Given the description of an element on the screen output the (x, y) to click on. 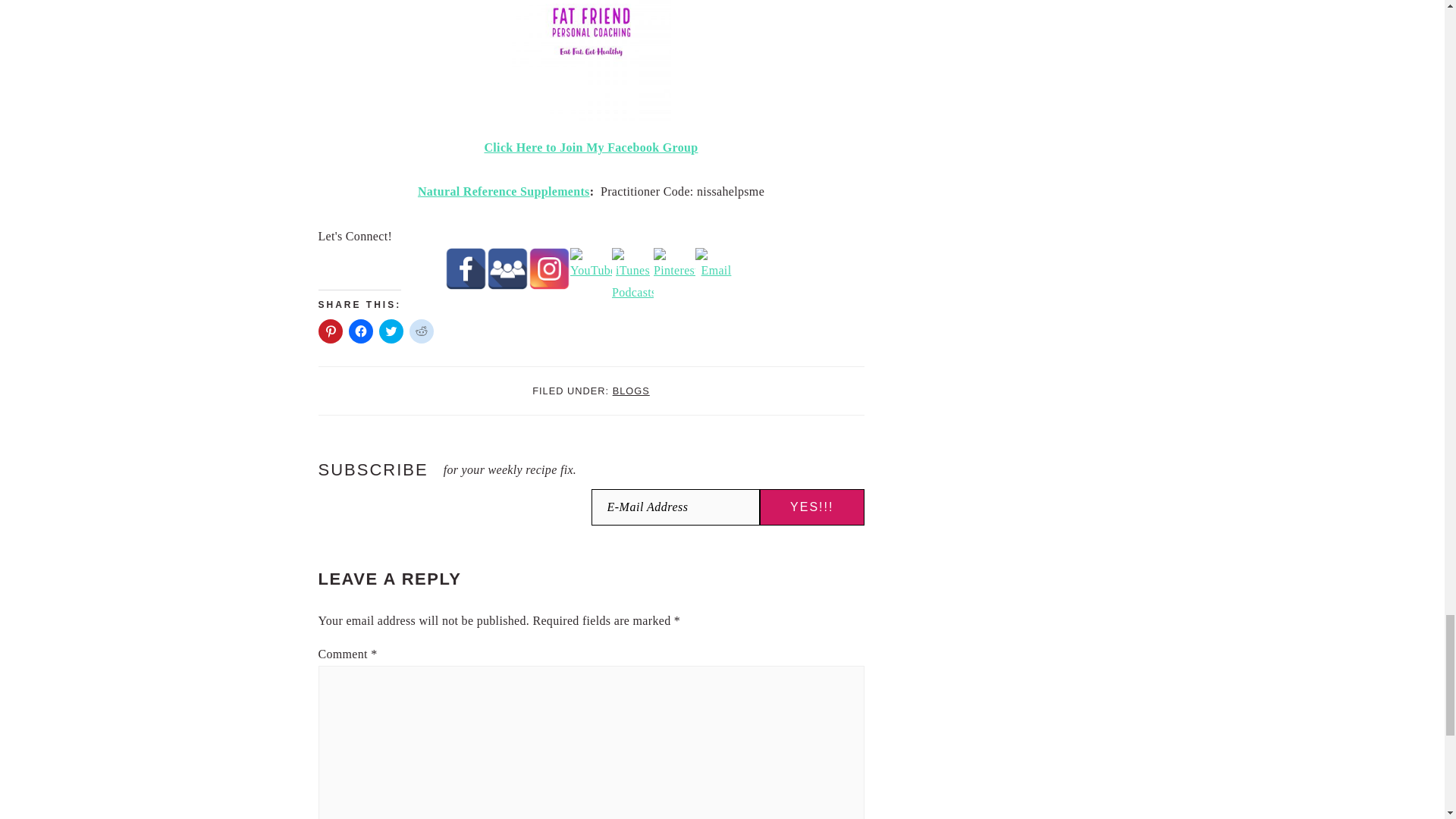
Facebook Group (507, 268)
Yes!!! (812, 506)
iTunes Podcasts (632, 268)
Pinterest (674, 268)
Facebook (465, 268)
YouTube (590, 268)
Natural Reference Supplements (503, 191)
Click to share on Pinterest (330, 331)
Instagram (549, 268)
Email (715, 268)
